Given the description of an element on the screen output the (x, y) to click on. 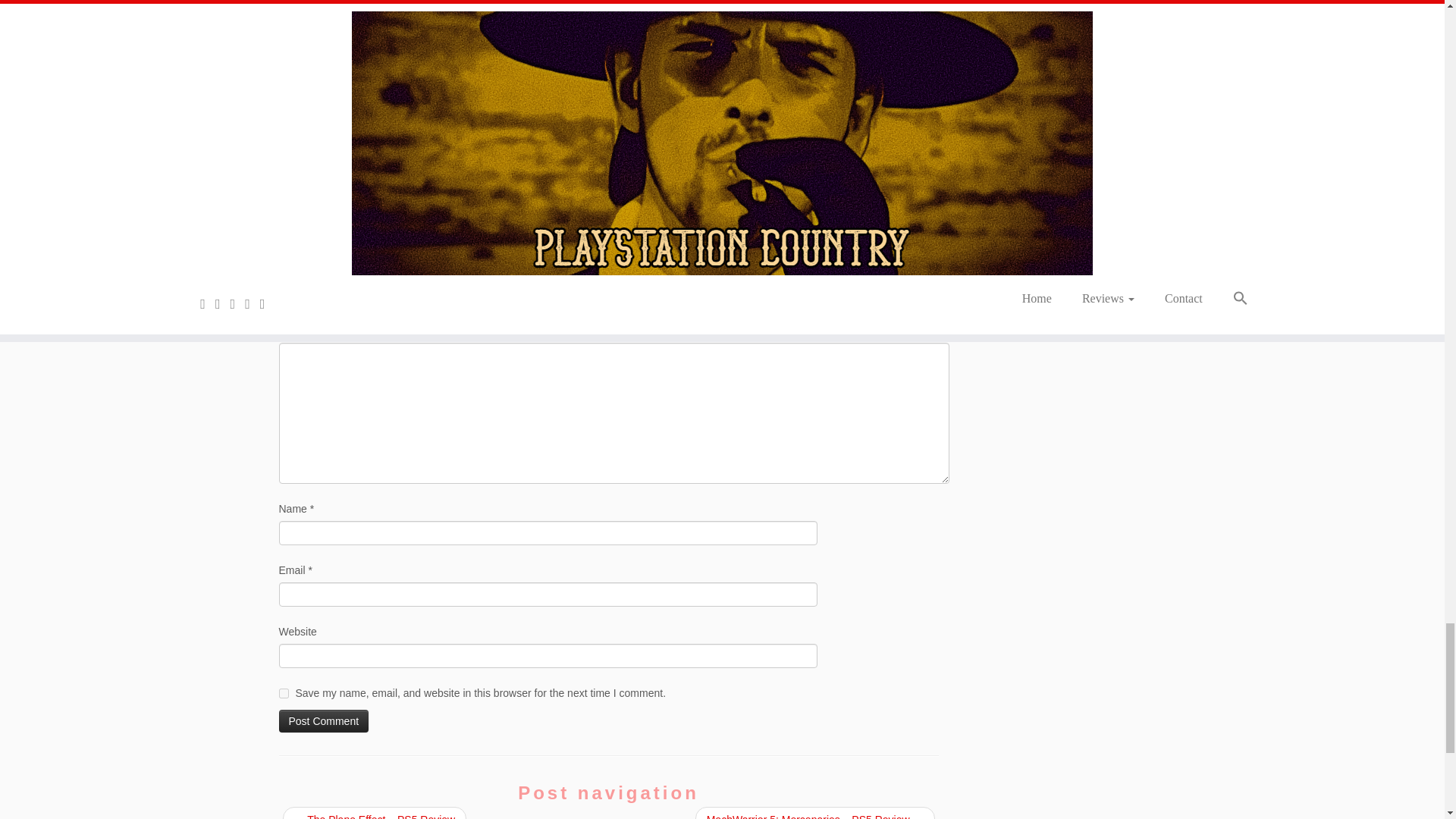
Post Comment (324, 720)
Post Comment (324, 720)
yes (283, 693)
